Given the description of an element on the screen output the (x, y) to click on. 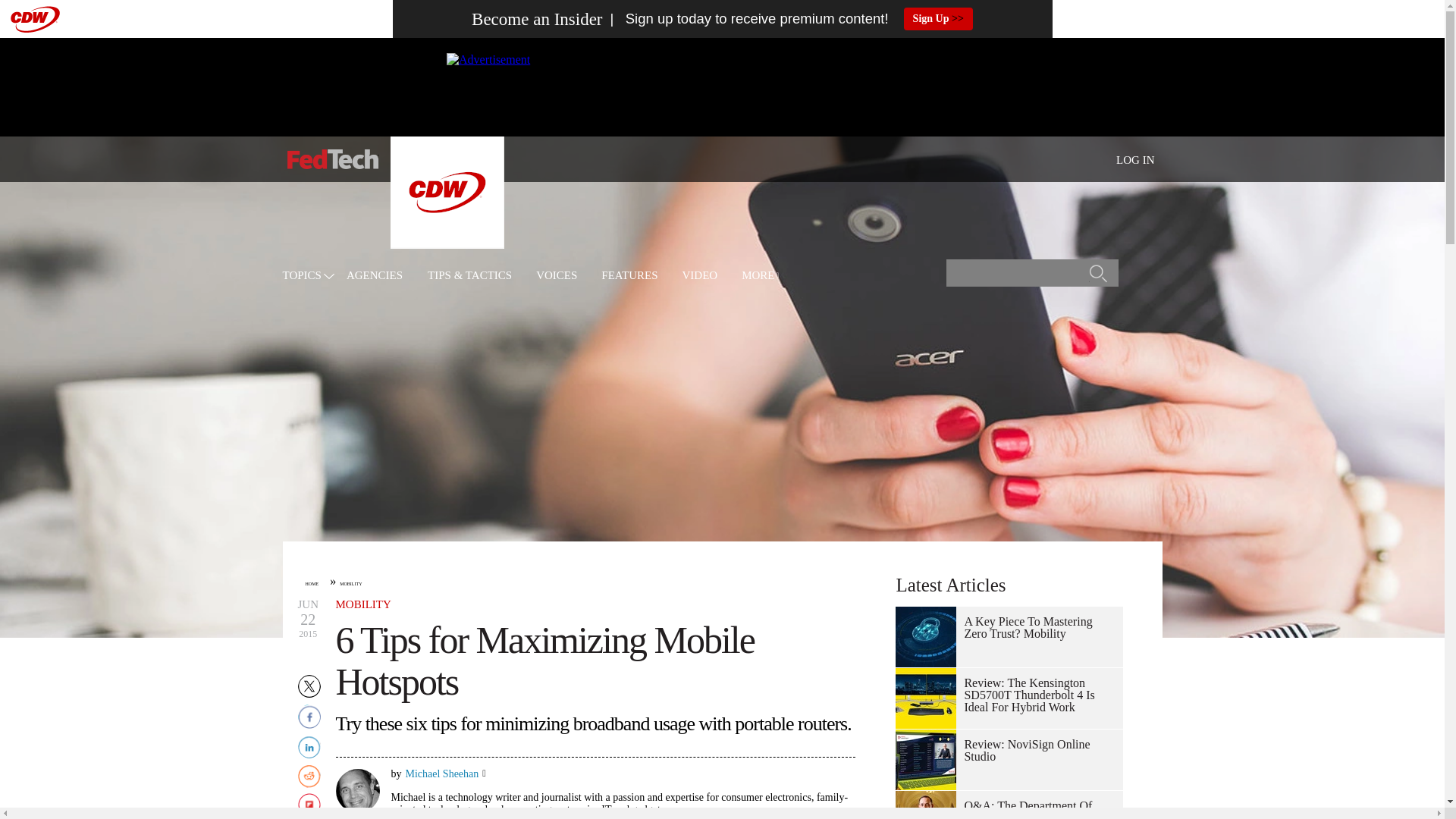
CDW (446, 244)
AGENCIES (374, 275)
Sign up today to receive premium content! (745, 19)
Home (332, 158)
advertisement (721, 87)
Become an Insider (536, 18)
User menu (1135, 160)
VOICES (555, 275)
LOG IN (1135, 159)
FEATURES (629, 275)
VIDEO (699, 275)
Sign Up (938, 18)
